Given the description of an element on the screen output the (x, y) to click on. 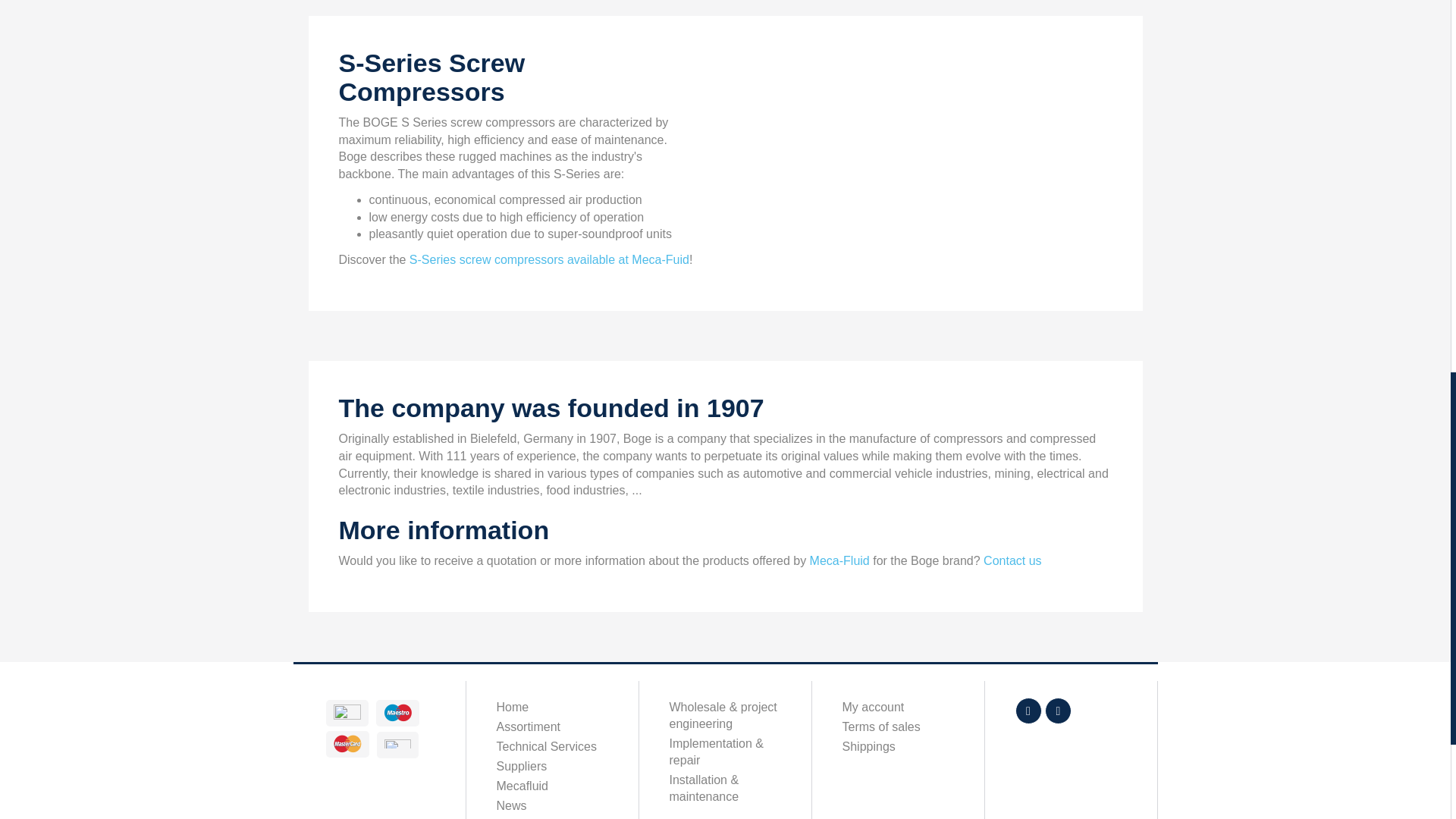
Assortiment (551, 727)
S-Series screw compressors available at Meca-Fuid (547, 259)
Meca-Fluid (839, 560)
Contact us (1012, 560)
Home (551, 707)
